Given the description of an element on the screen output the (x, y) to click on. 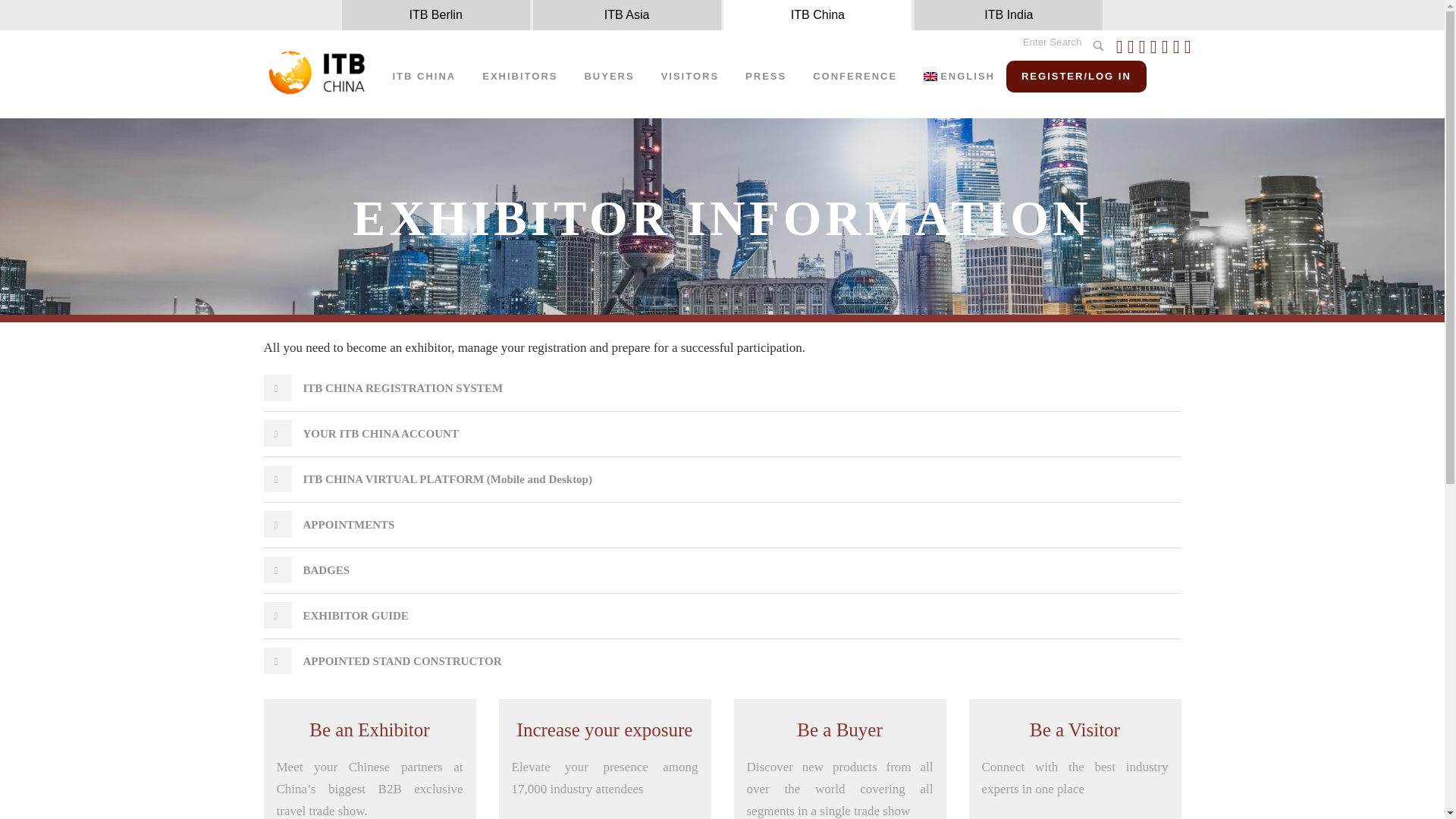
ITB China (817, 15)
ITB India (1008, 15)
ITB Asia (626, 15)
ITB China (817, 15)
ITB Asia (626, 15)
ITB Berlin (435, 15)
ITB Berlin (435, 15)
ITB India (1008, 15)
English (930, 76)
